Given the description of an element on the screen output the (x, y) to click on. 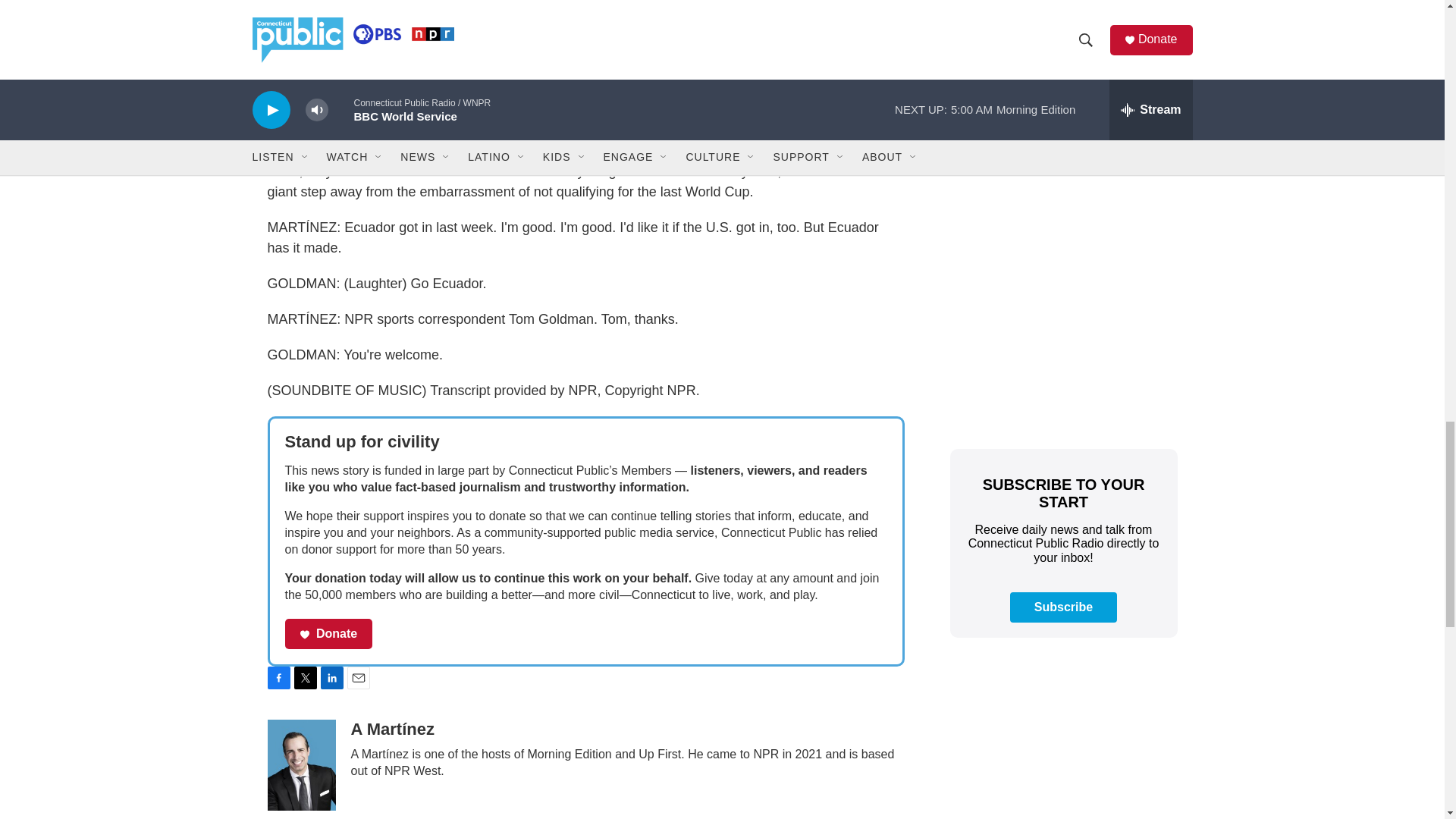
3rd party ad content (1062, 323)
3rd party ad content (1062, 743)
3rd party ad content (1062, 104)
